Given the description of an element on the screen output the (x, y) to click on. 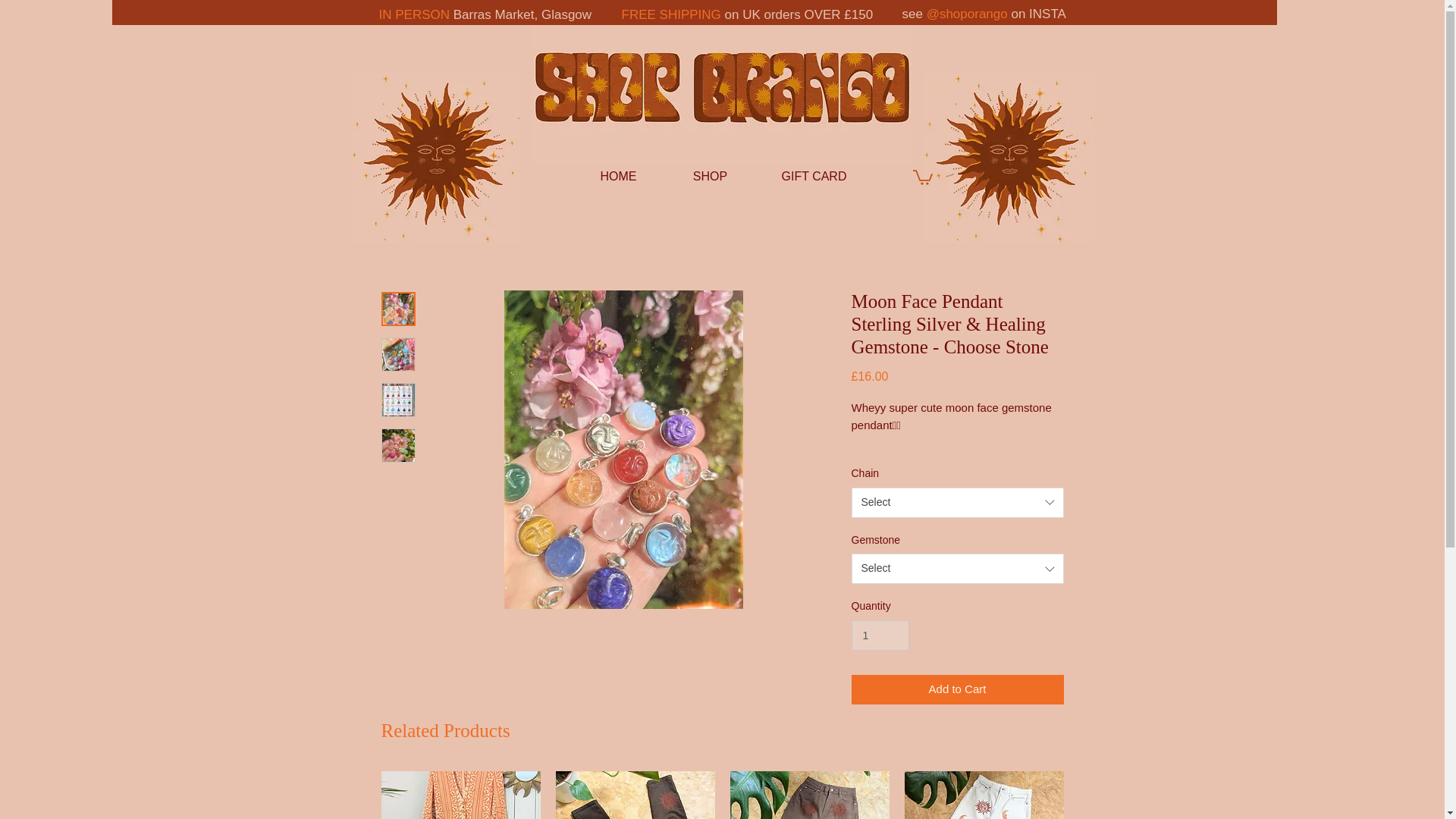
HOME (618, 175)
1 (879, 635)
Select (956, 502)
Add to Cart (956, 689)
Select (956, 568)
SHOP (710, 175)
GIFT CARD (814, 175)
